Given the description of an element on the screen output the (x, y) to click on. 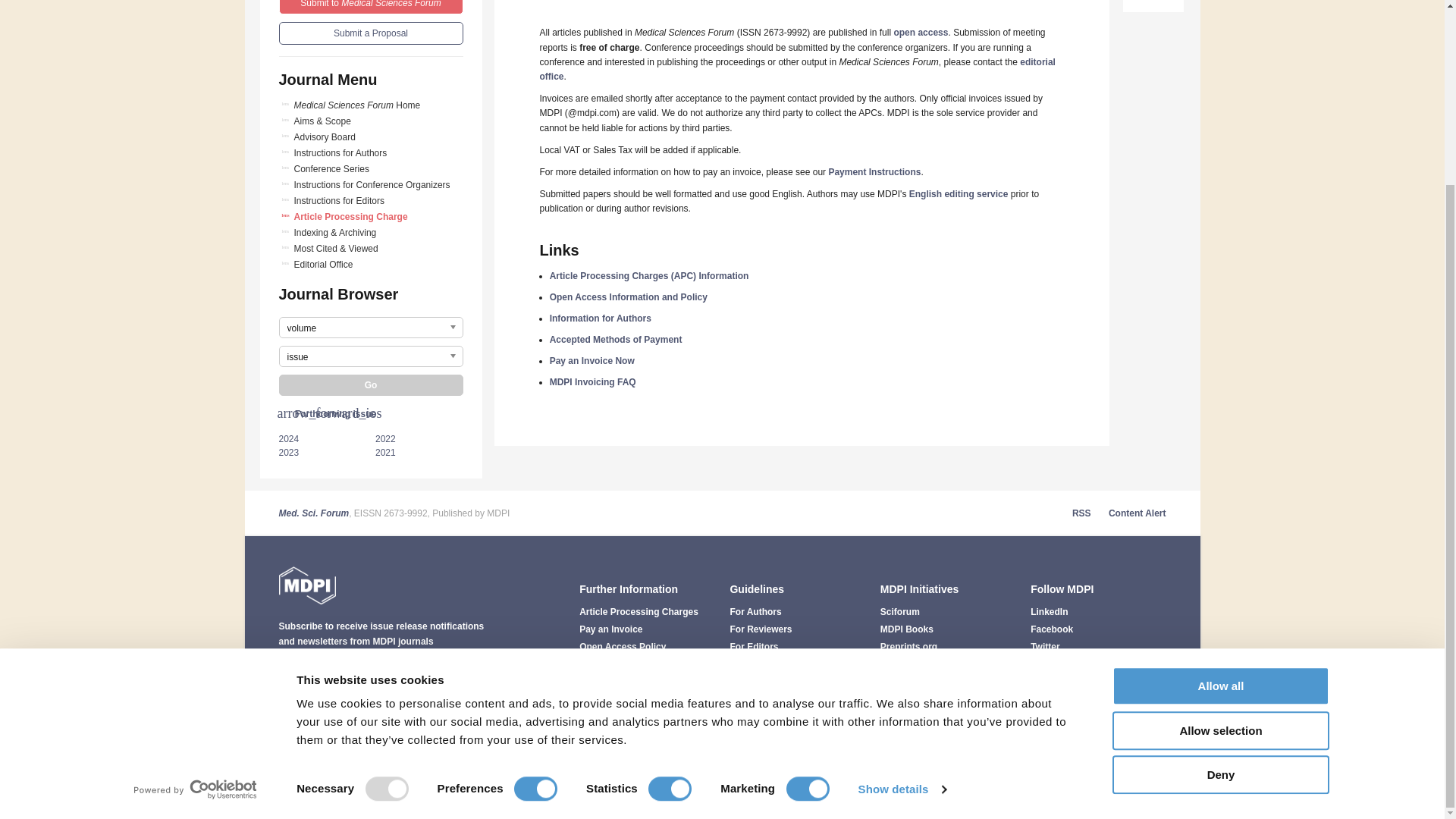
Go (371, 384)
Show details (900, 560)
